Given the description of an element on the screen output the (x, y) to click on. 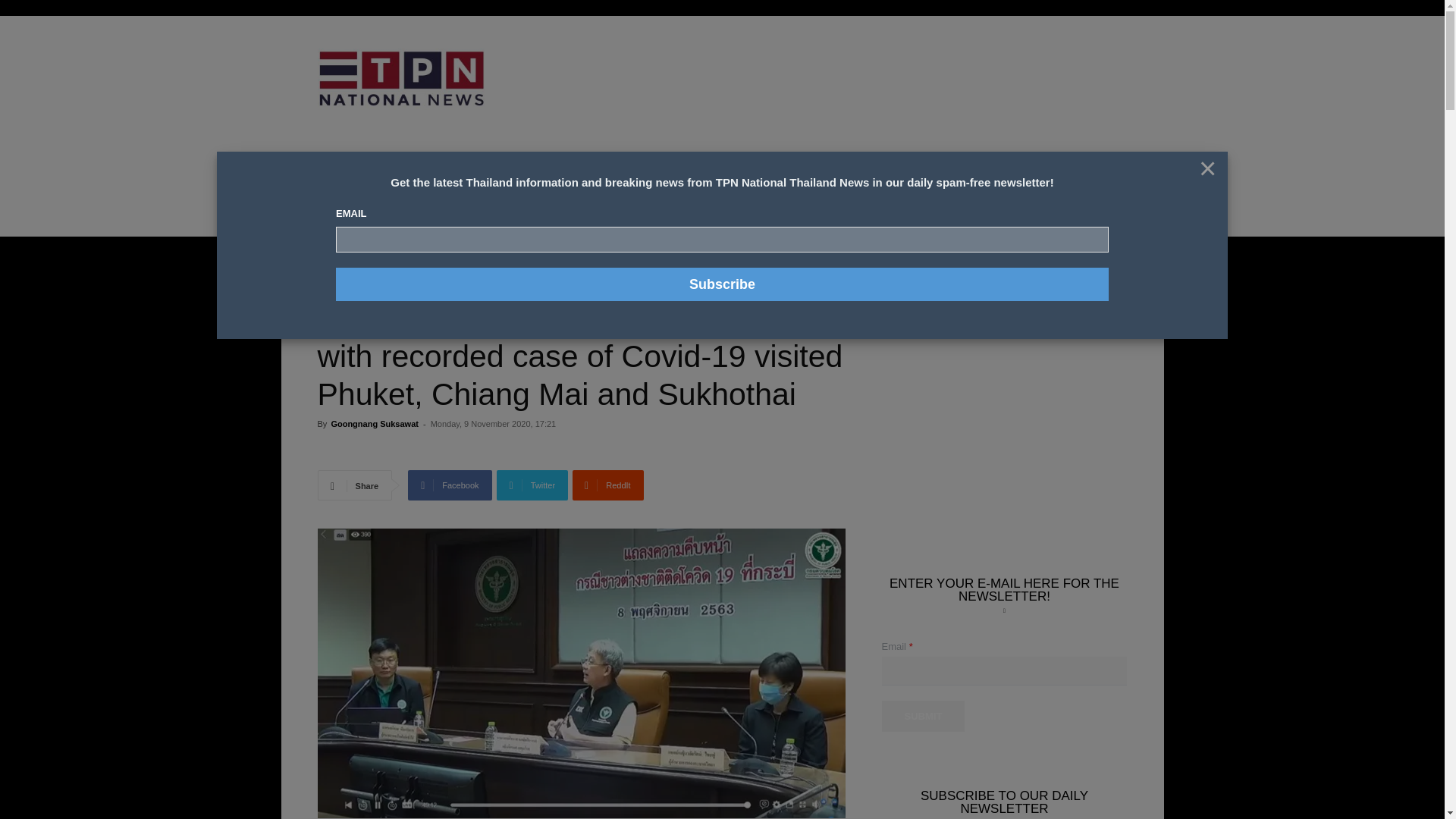
Search (1099, 287)
POLITICS (624, 181)
Phuket (563, 281)
Advertisement (846, 95)
ADVERTISE WITH US (752, 181)
WORLD (678, 181)
Thailand National News (404, 259)
Chiang Rai (433, 281)
Home (328, 259)
NATIONAL (370, 181)
HOME (318, 181)
BUSINESS (529, 181)
Covid-19 Coronavirus (502, 281)
LIFE (577, 181)
Subscribe (722, 284)
